Given the description of an element on the screen output the (x, y) to click on. 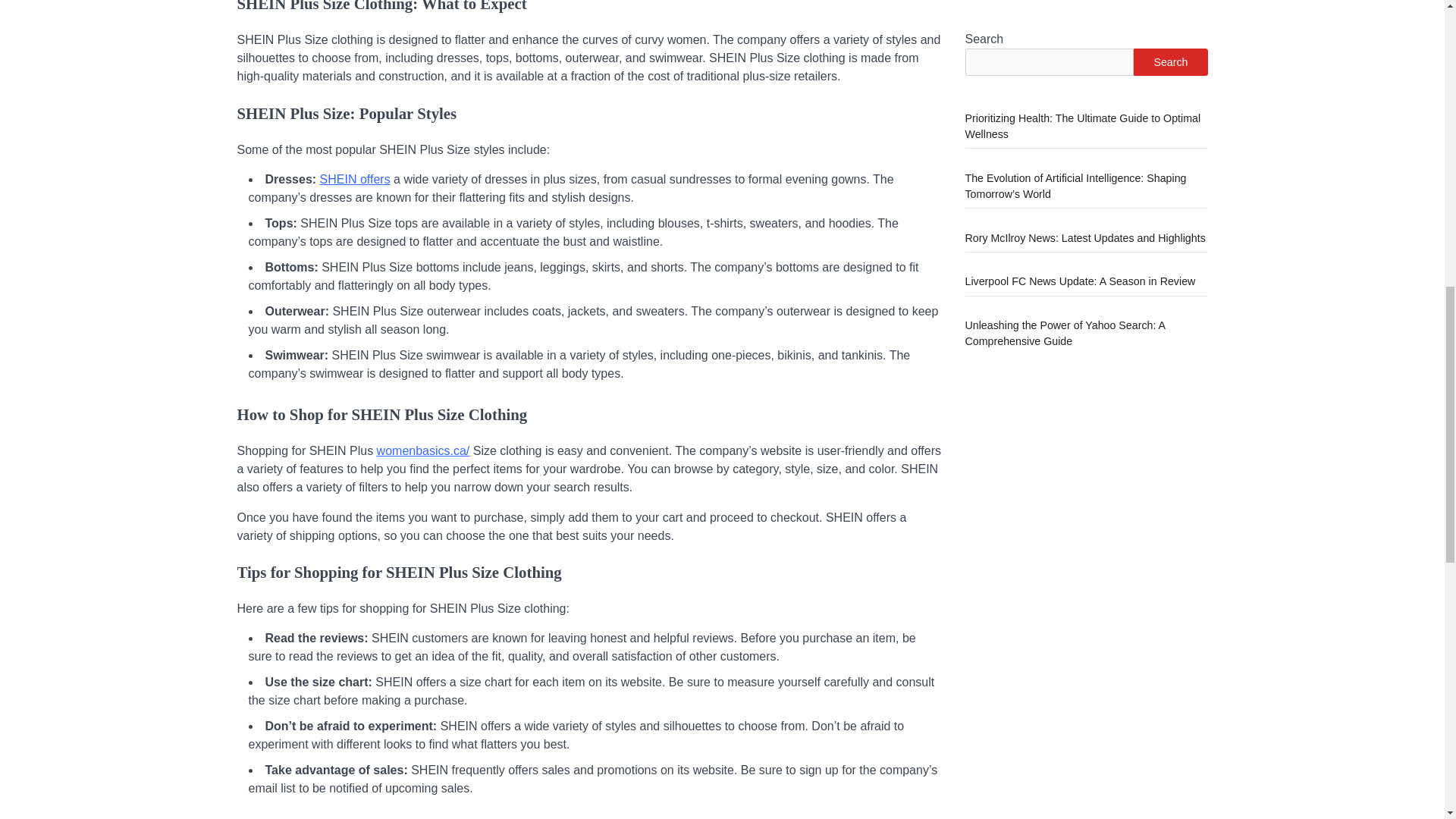
SHEIN offers (355, 178)
